Given the description of an element on the screen output the (x, y) to click on. 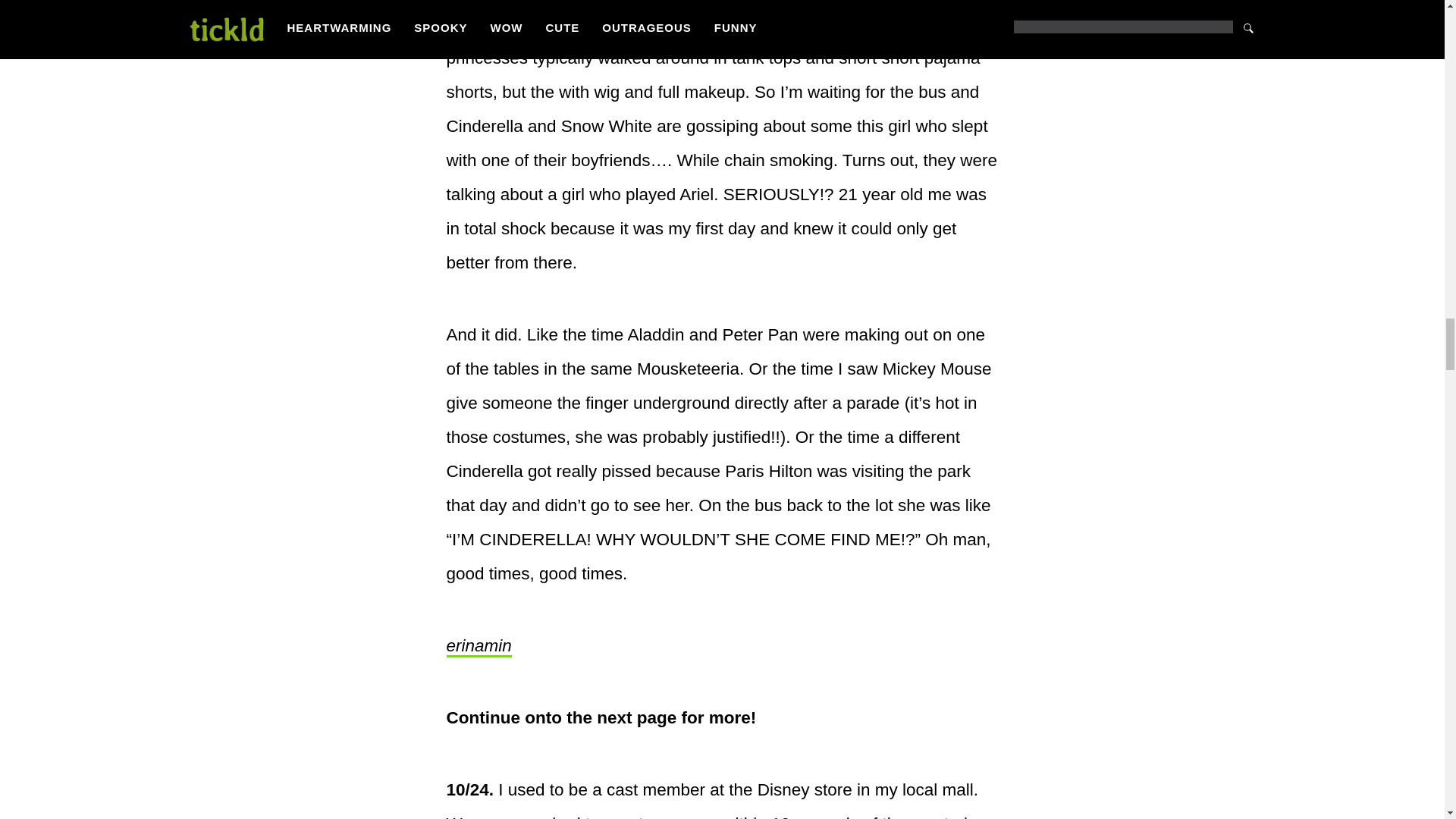
erinamin (478, 646)
